Given the description of an element on the screen output the (x, y) to click on. 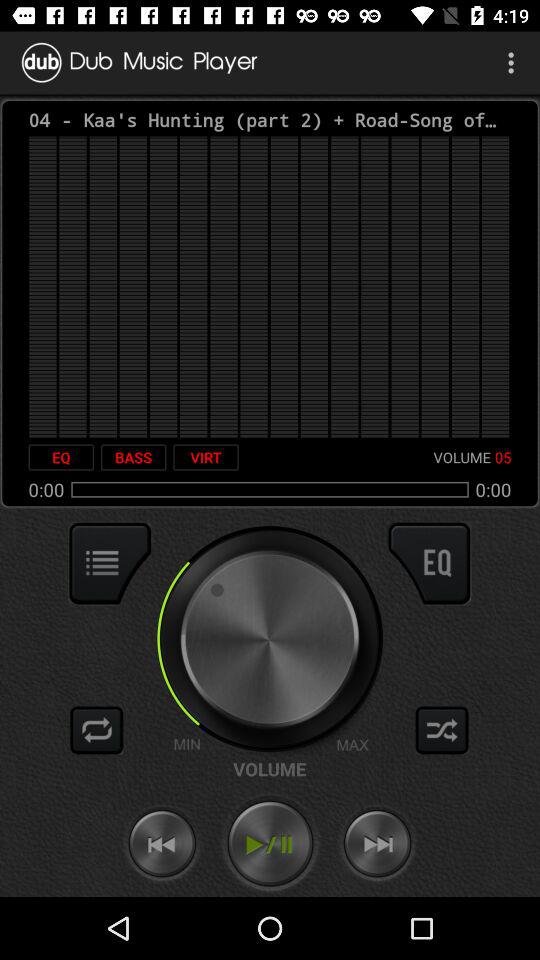
jump until eq   item (61, 457)
